Given the description of an element on the screen output the (x, y) to click on. 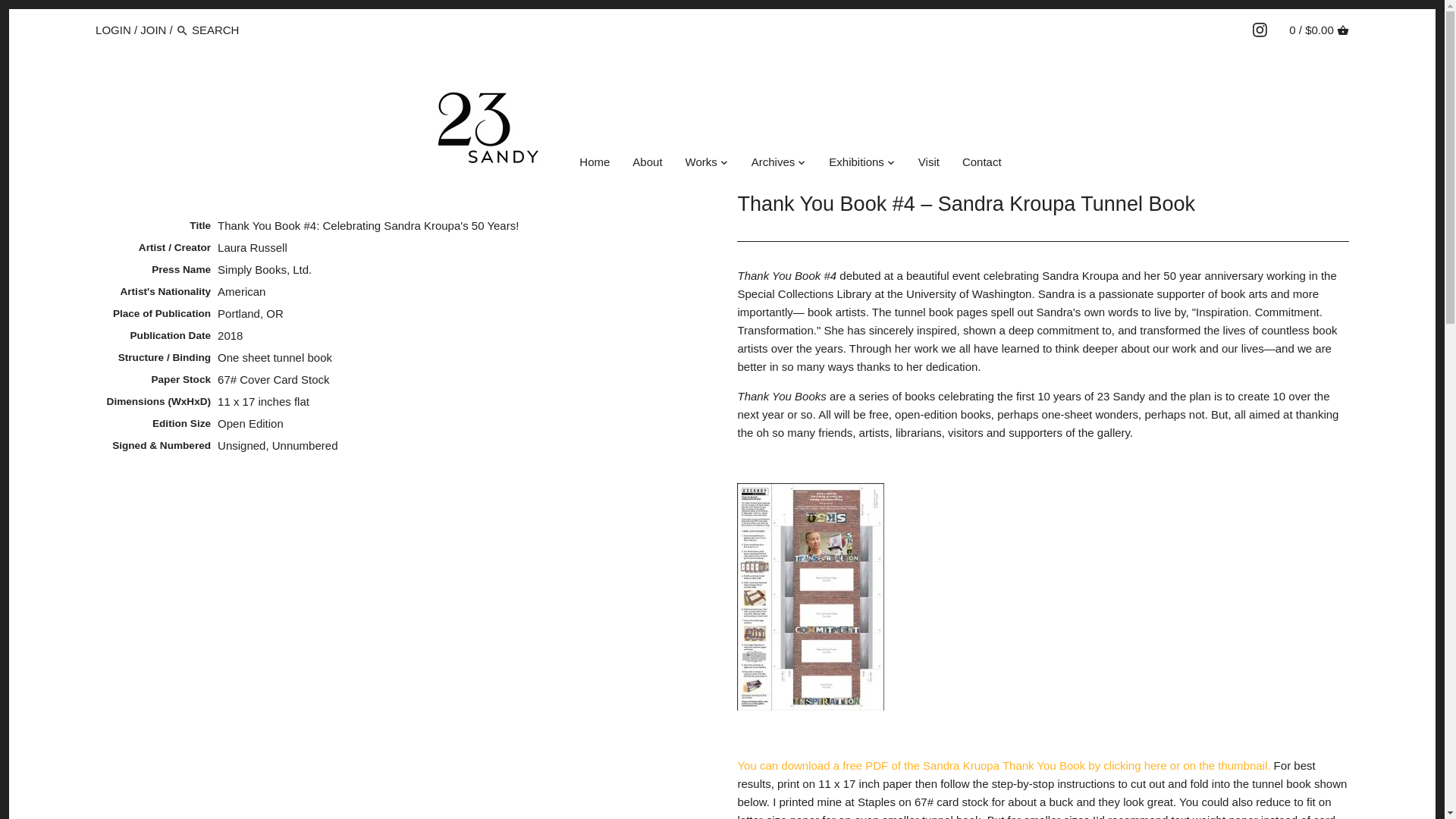
Contact (981, 164)
INSTAGRAM (1259, 29)
Works (701, 164)
Search (182, 30)
Exhibitions (855, 164)
CART (1342, 30)
LOGIN (113, 29)
JOIN (152, 29)
Visit (928, 164)
Archives (772, 164)
About (646, 164)
Home (594, 164)
